Given the description of an element on the screen output the (x, y) to click on. 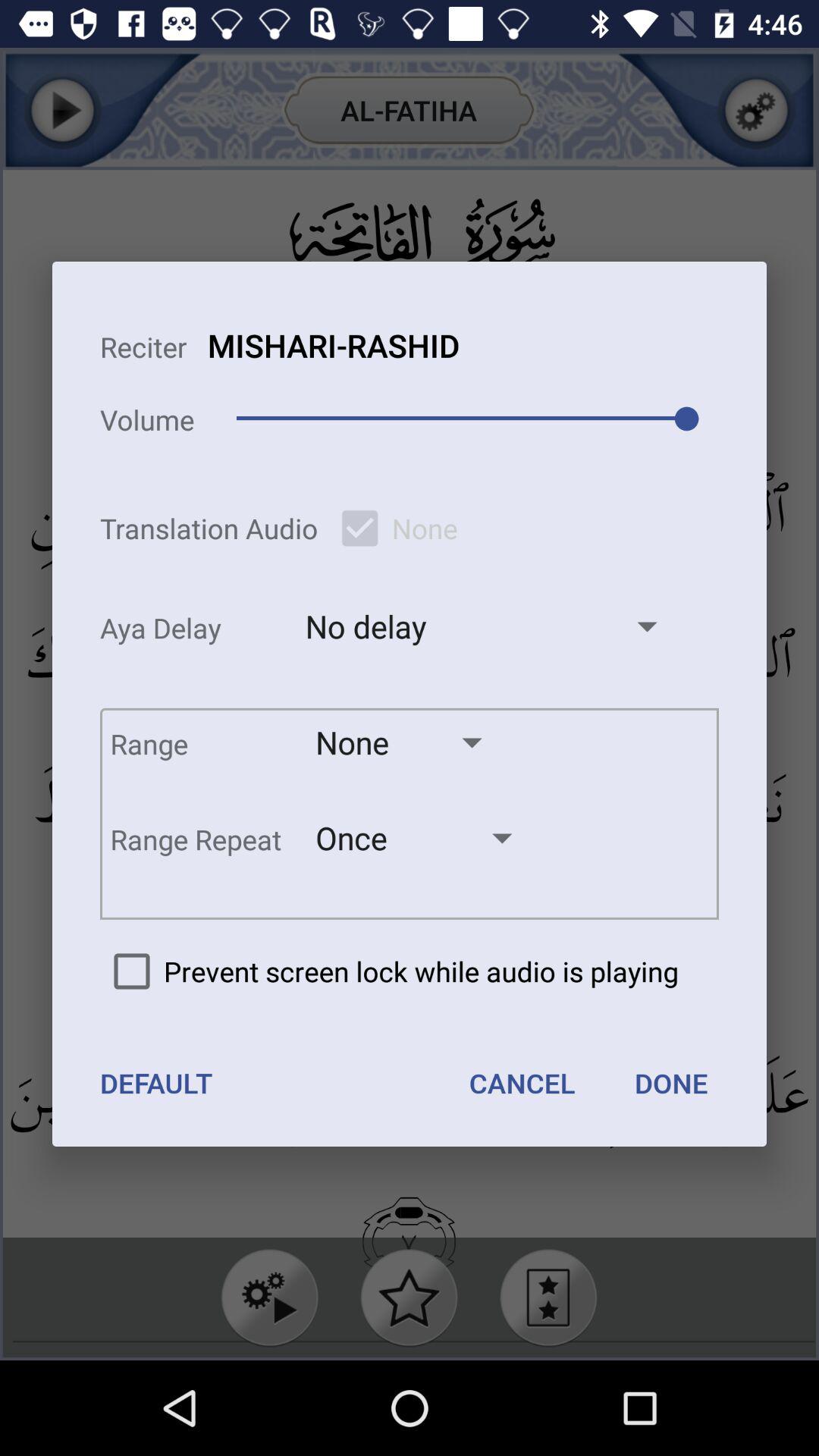
turn off the prevent screen lock icon (389, 971)
